Given the description of an element on the screen output the (x, y) to click on. 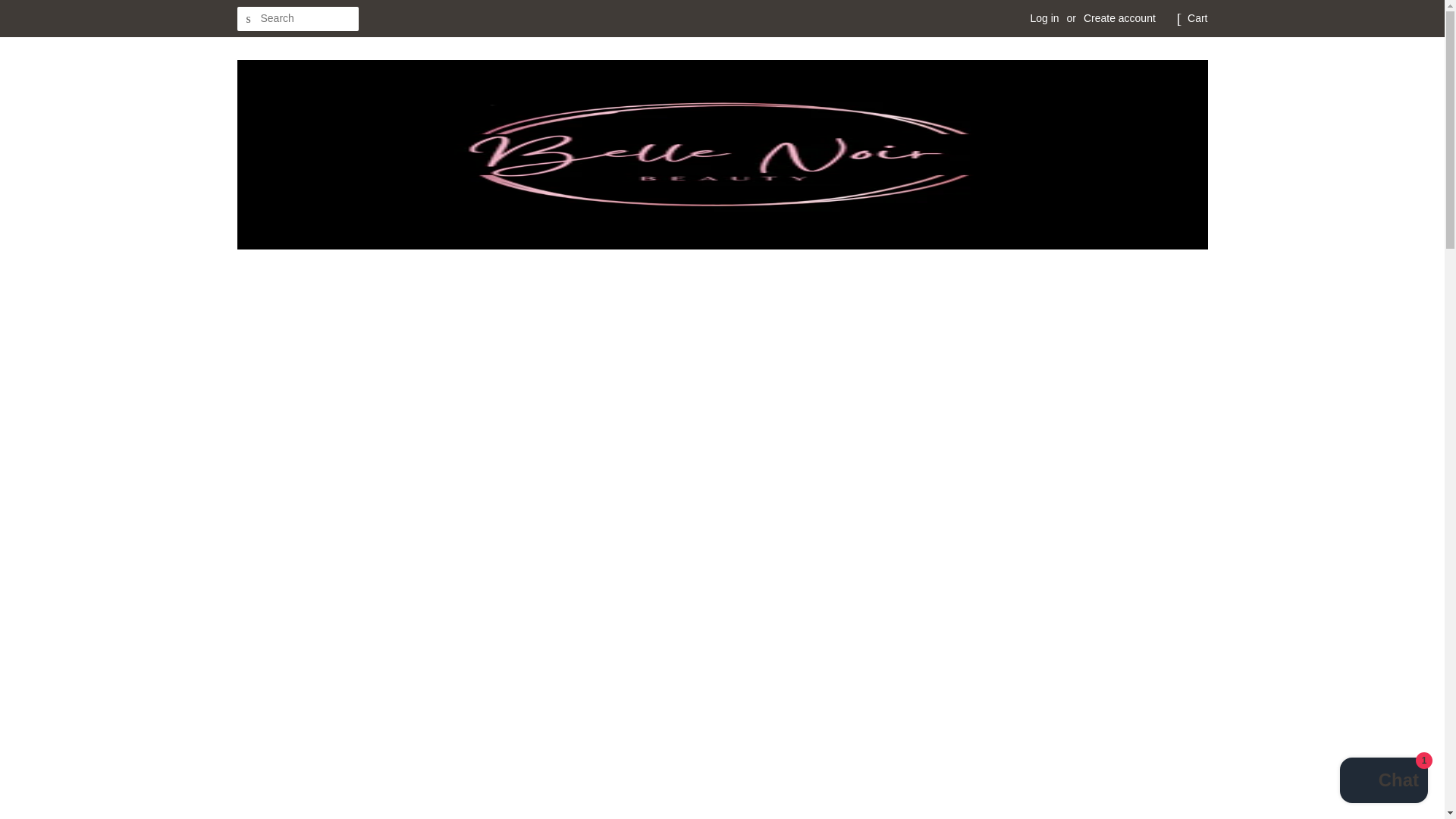
SEARCH (247, 18)
Shopify online store chat (1383, 781)
Create account (1119, 18)
Cart (1197, 18)
Log in (1043, 18)
